Given the description of an element on the screen output the (x, y) to click on. 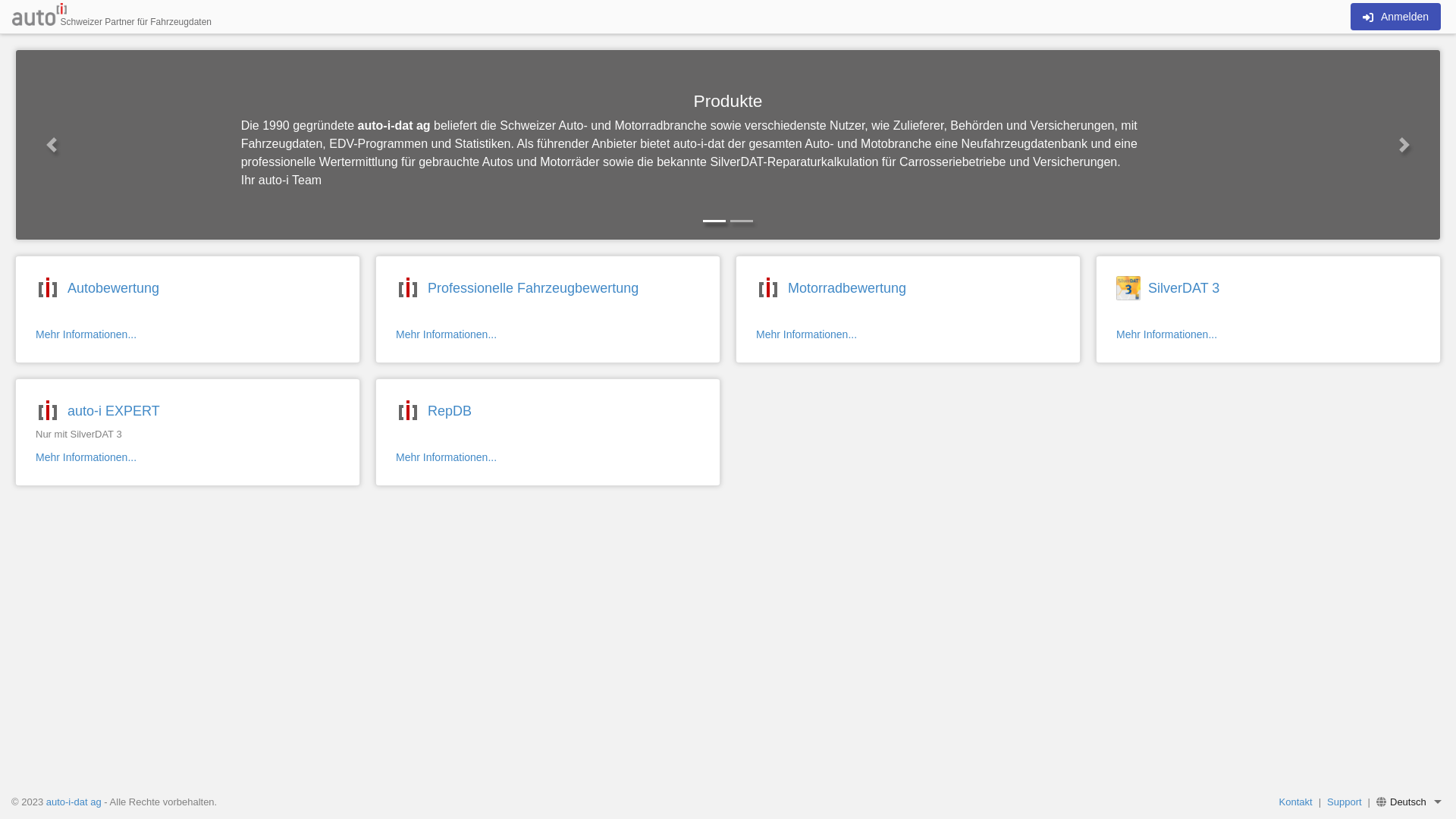
Autobewertung
Mehr Informationen... Element type: text (187, 309)
Support Element type: text (1344, 801)
Professionelle Fahrzeugbewertung
Mehr Informationen... Element type: text (547, 309)
Motorradbewertung
Mehr Informationen... Element type: text (907, 309)
RepDB
Mehr Informationen... Element type: text (547, 432)
Mehr Informationen... Element type: text (85, 457)
Mehr Informationen... Element type: text (85, 334)
auto-i-dat ag Element type: text (73, 801)
Mehr Informationen... Element type: text (1166, 334)
Next Element type: text (1404, 144)
Kontakt Element type: text (1295, 801)
SilverDAT 3
Mehr Informationen... Element type: text (1267, 309)
Anmelden Element type: text (1395, 16)
Mehr Informationen... Element type: text (445, 457)
Mehr Informationen... Element type: text (445, 334)
auto-i EXPERT
Nur mit SilverDAT 3
Mehr Informationen... Element type: text (187, 432)
Mehr Informationen... Element type: text (806, 334)
Previous Element type: text (51, 144)
